Given the description of an element on the screen output the (x, y) to click on. 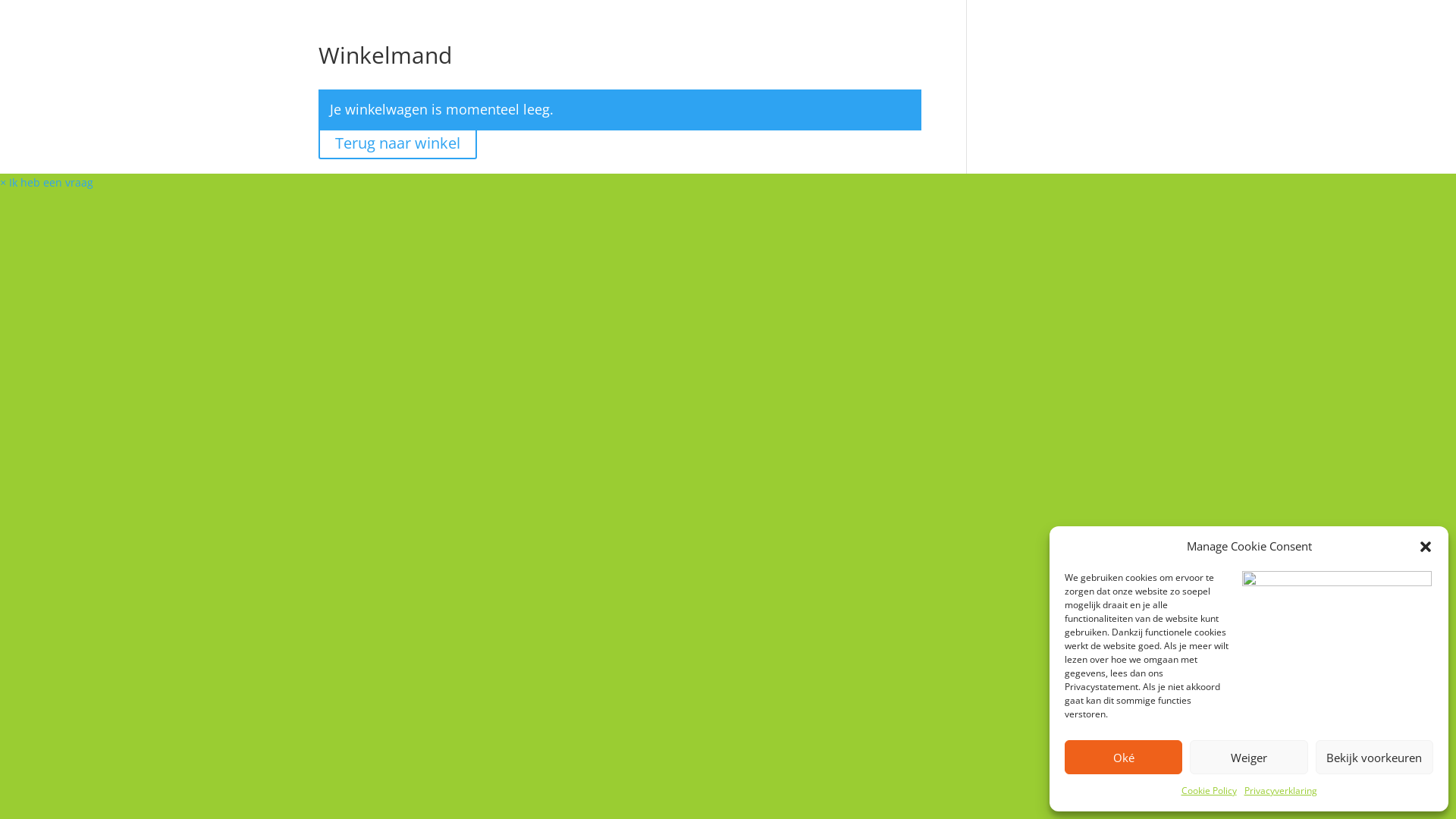
Terug naar winkel Element type: text (397, 142)
Bekijk voorkeuren Element type: text (1374, 757)
Cookie Policy Element type: text (1208, 790)
Weiger Element type: text (1248, 757)
Privacyverklaring Element type: text (1279, 790)
